Given the description of an element on the screen output the (x, y) to click on. 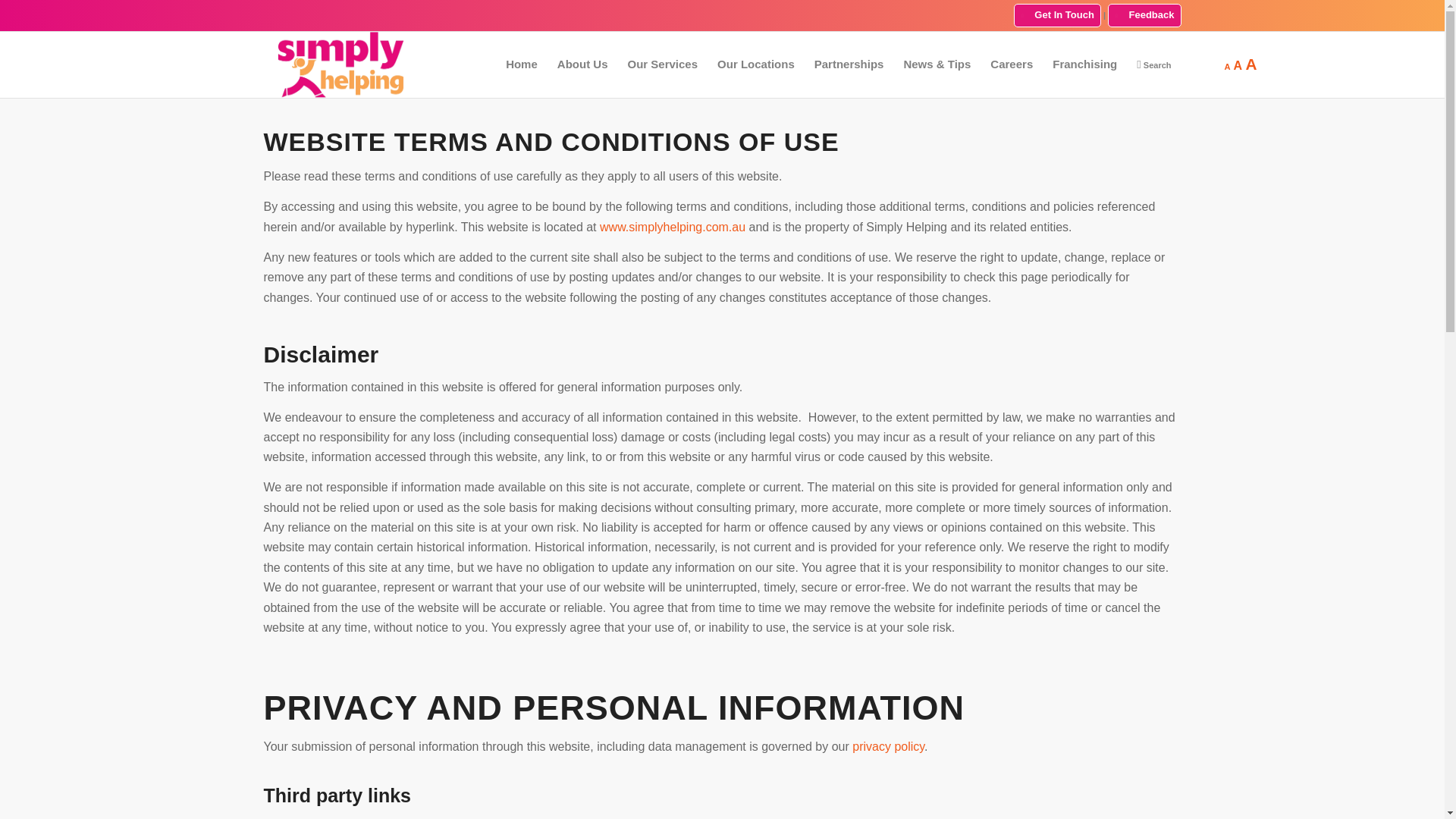
Our Services (662, 64)
Our Locations (756, 64)
www.simplyhelping.com.au (672, 226)
About Us (582, 64)
Partnerships (849, 64)
  Feedback (1144, 15)
  Get In Touch (1056, 15)
privacy policy (887, 746)
Careers (1010, 64)
Franchising (1084, 64)
